Given the description of an element on the screen output the (x, y) to click on. 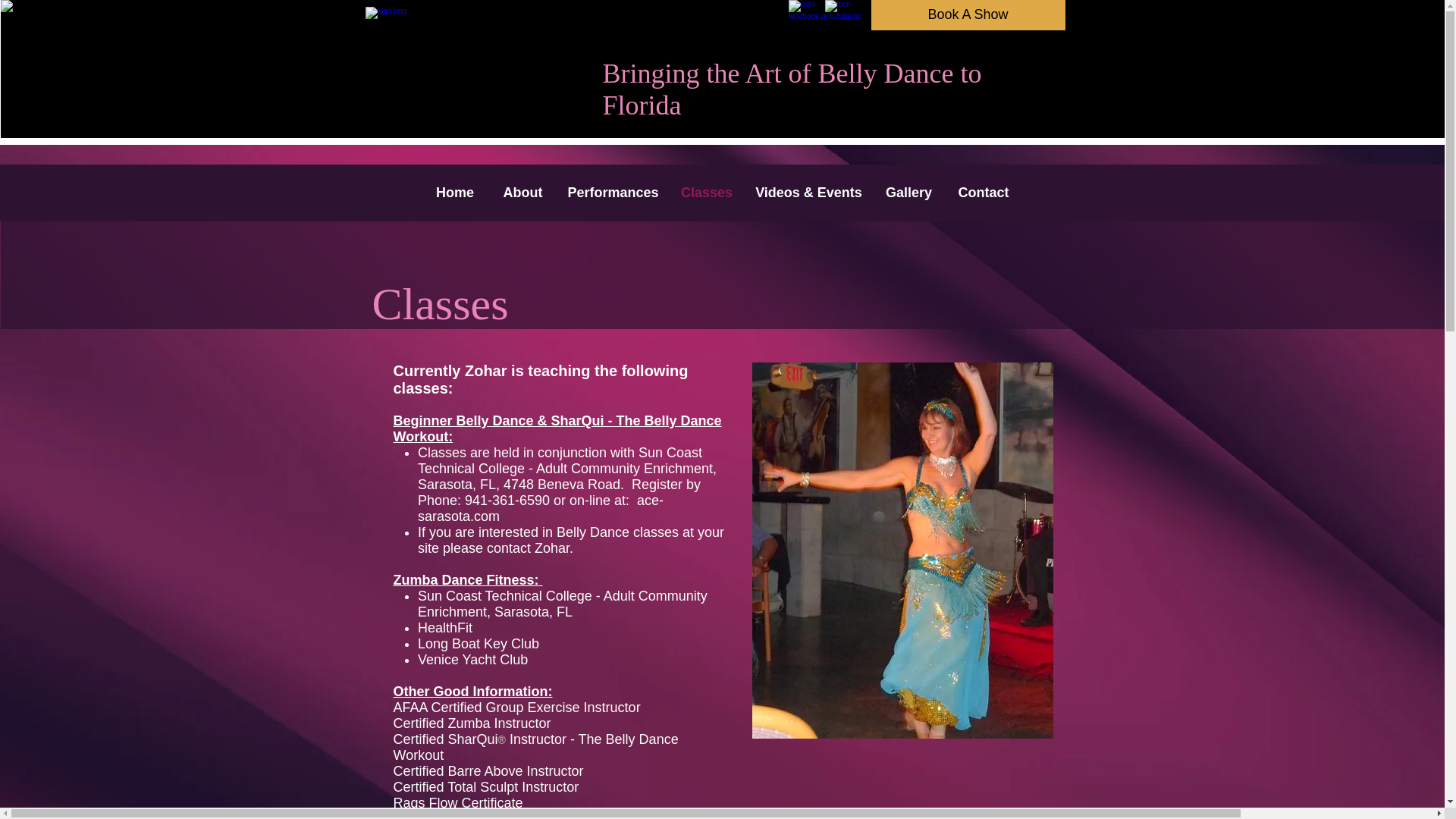
Contact (983, 192)
Gallery (908, 192)
Performances (612, 192)
Home (455, 192)
Classes (706, 192)
Book A Show (967, 15)
About (521, 192)
